Given the description of an element on the screen output the (x, y) to click on. 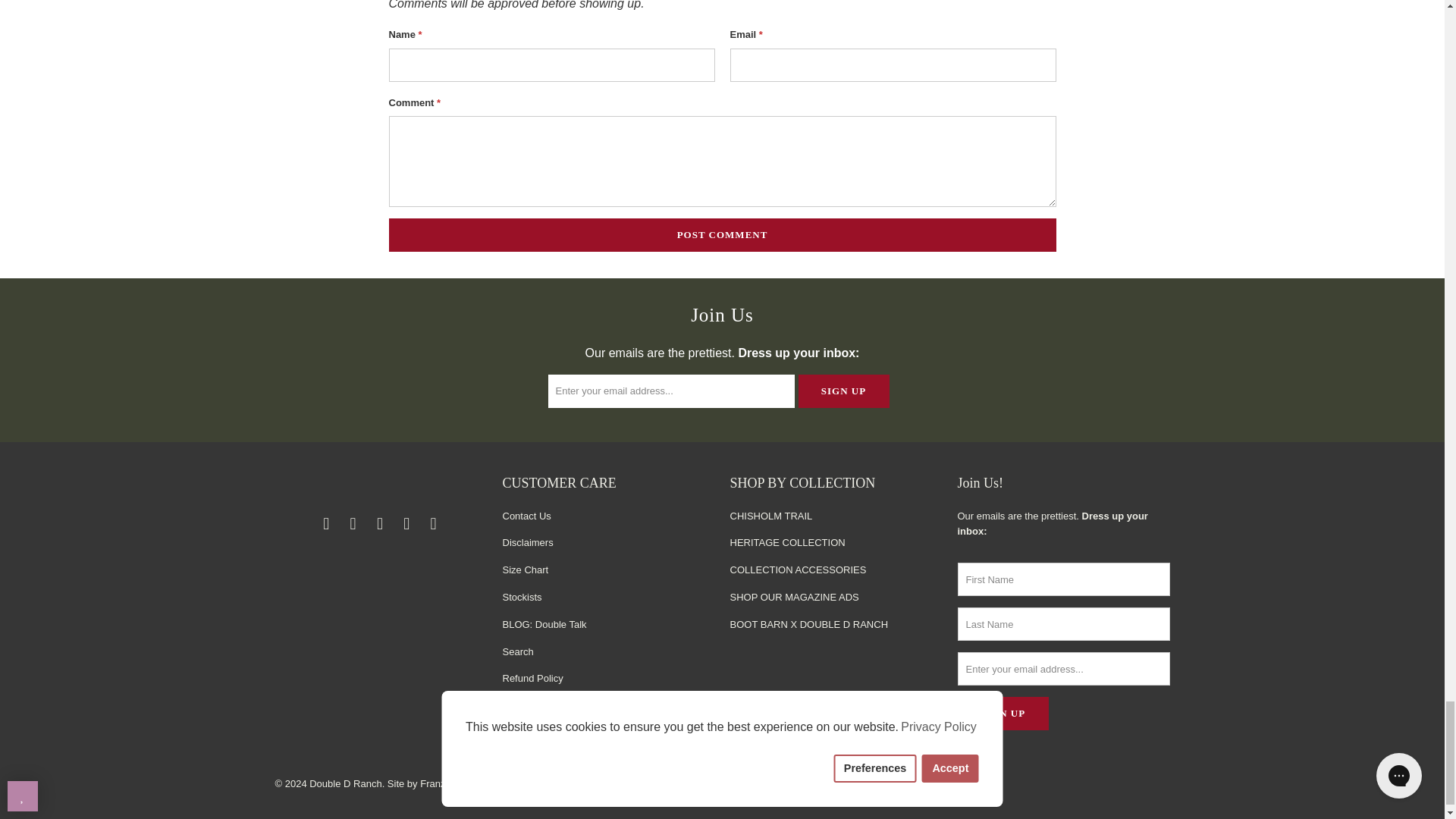
Sign Up (842, 390)
Sign Up (1002, 713)
Post comment (721, 234)
